Given the description of an element on the screen output the (x, y) to click on. 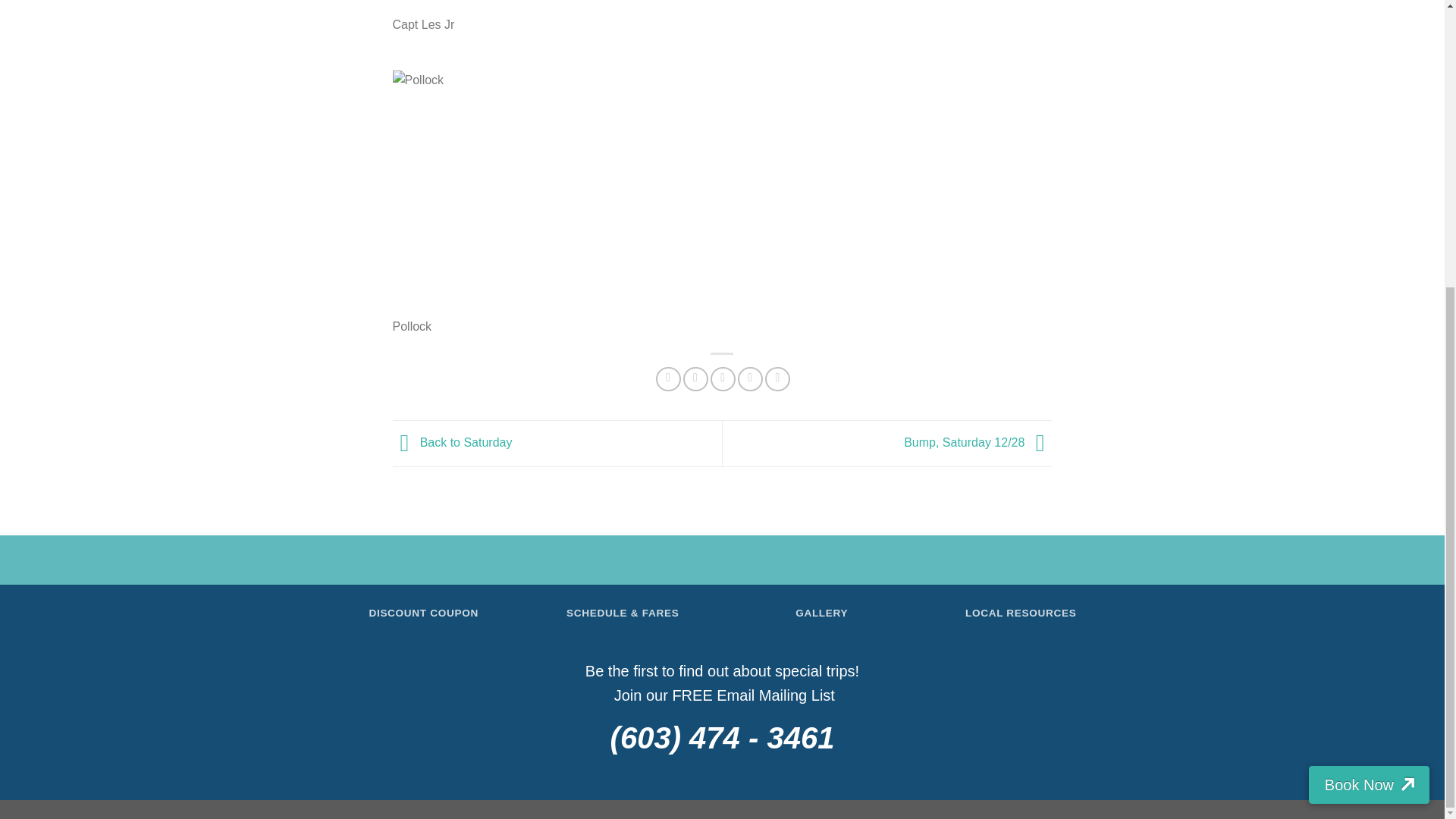
Pin on Pinterest (750, 379)
Share on LinkedIn (777, 379)
Email to a Friend (722, 379)
GALLERY (820, 613)
DISCOUNT COUPON (423, 613)
Share on Facebook (668, 379)
Share on Twitter (694, 379)
LOCAL RESOURCES (1021, 613)
Back to Saturday (452, 441)
